Given the description of an element on the screen output the (x, y) to click on. 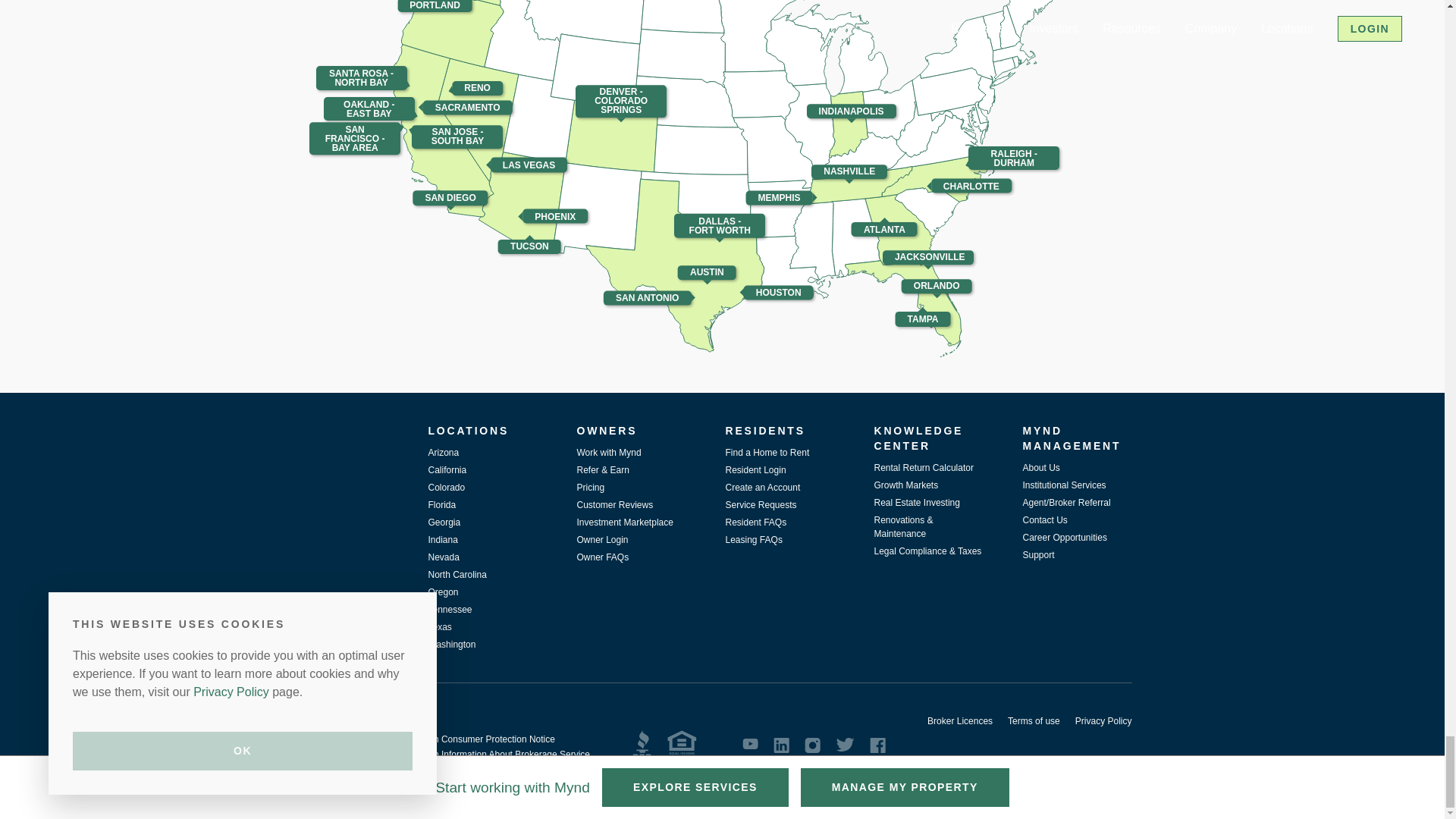
Facebook (877, 744)
Twitter (844, 744)
Instagram (813, 744)
LinkedIn (781, 744)
Youtube (750, 743)
